Given the description of an element on the screen output the (x, y) to click on. 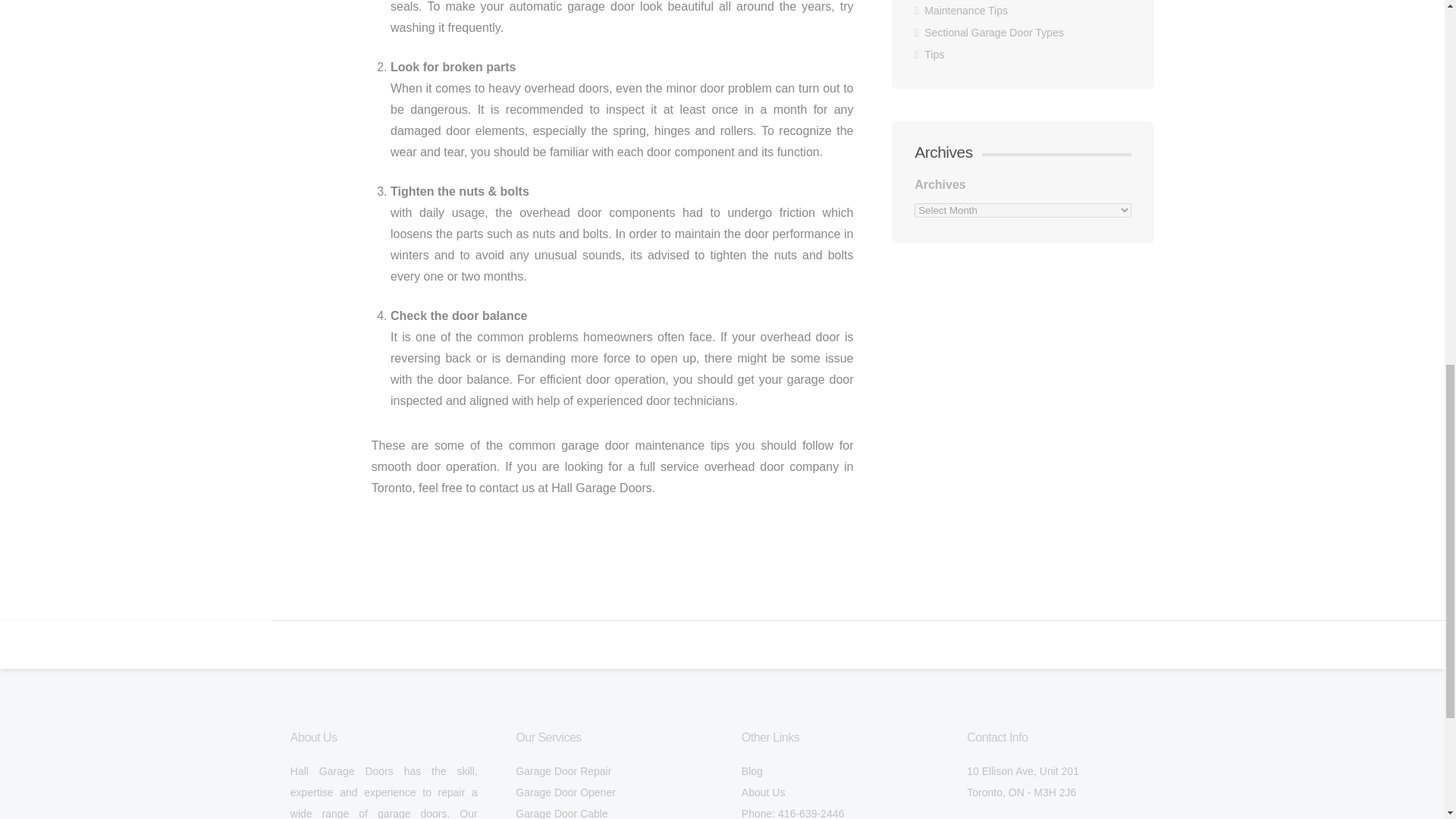
Maintenance Tips (965, 10)
Sectional Garage Door Types (993, 32)
Tips (933, 54)
Garage Door Repair (563, 770)
